Given the description of an element on the screen output the (x, y) to click on. 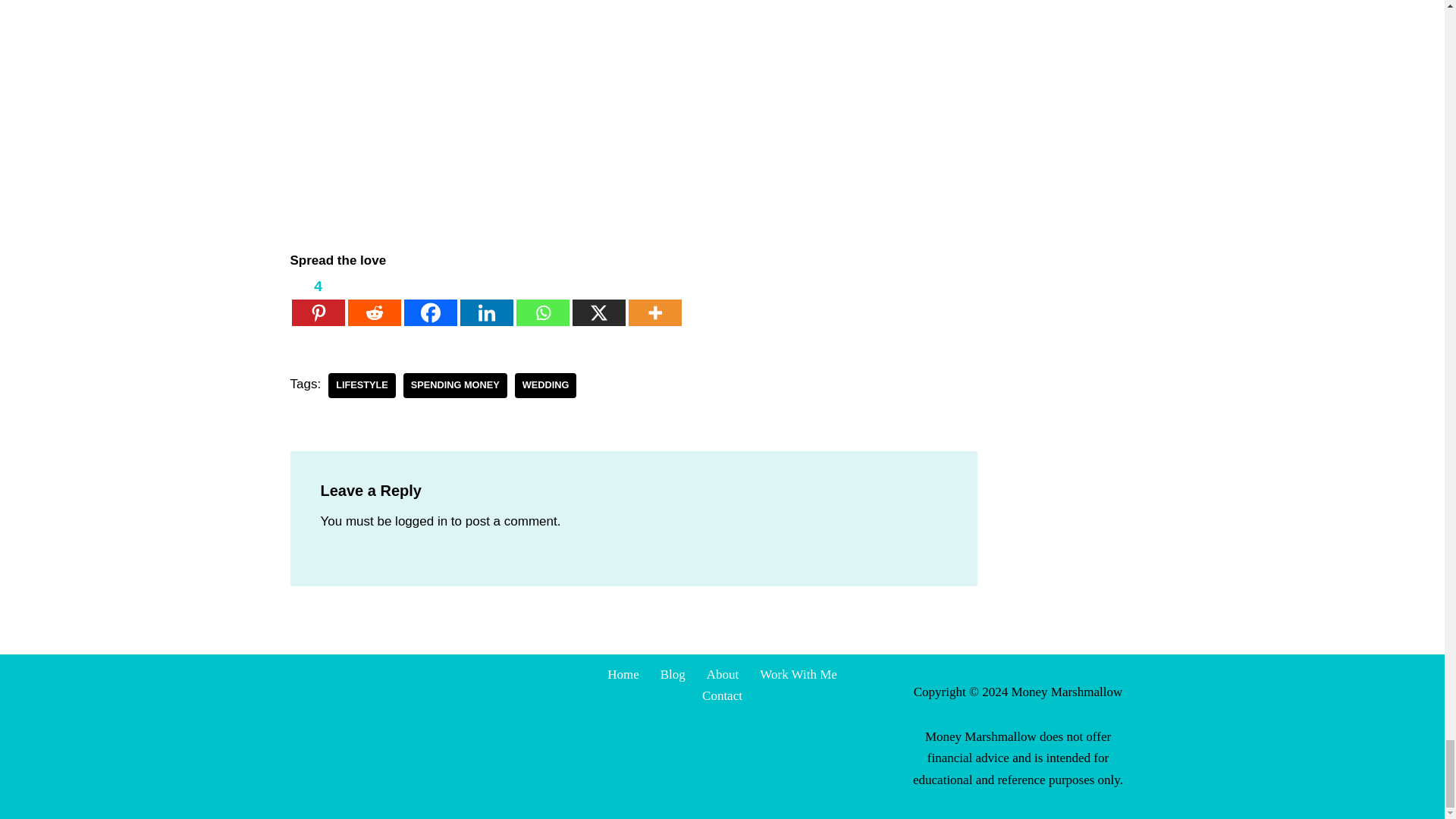
4 (317, 299)
Pinterest (317, 299)
Reddit (373, 299)
Facebook (430, 299)
